Given the description of an element on the screen output the (x, y) to click on. 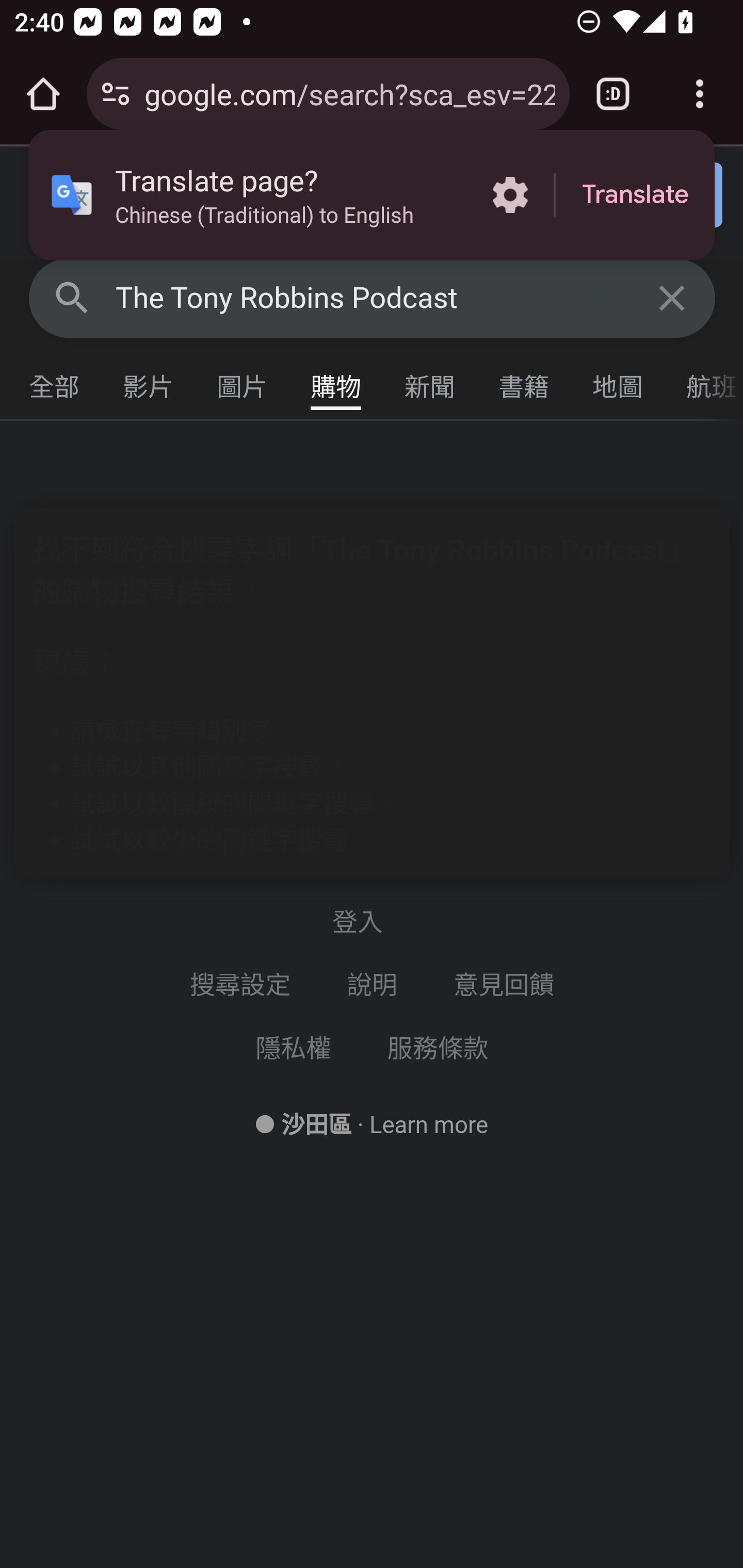
Open the home page (43, 93)
Connection is secure (115, 93)
Switch or close tabs (612, 93)
Customize and control Google Chrome (699, 93)
More options in the Translate page? (509, 195)
登入 (650, 195)
Google 搜尋 (71, 296)
清除搜尋內容 (672, 296)
The Tony Robbins Podcast (372, 297)
全部 (54, 382)
影片 (148, 382)
圖片 (242, 382)
新聞 (430, 382)
書籍 (524, 382)
地圖 (618, 382)
航班 (703, 382)
登入 (371, 921)
搜尋設定 (240, 985)
說明 (372, 985)
意見回饋 (505, 985)
隱私權 (294, 1048)
服務條款 (437, 1048)
瞭解詳情 Learn more (428, 1125)
